Given the description of an element on the screen output the (x, y) to click on. 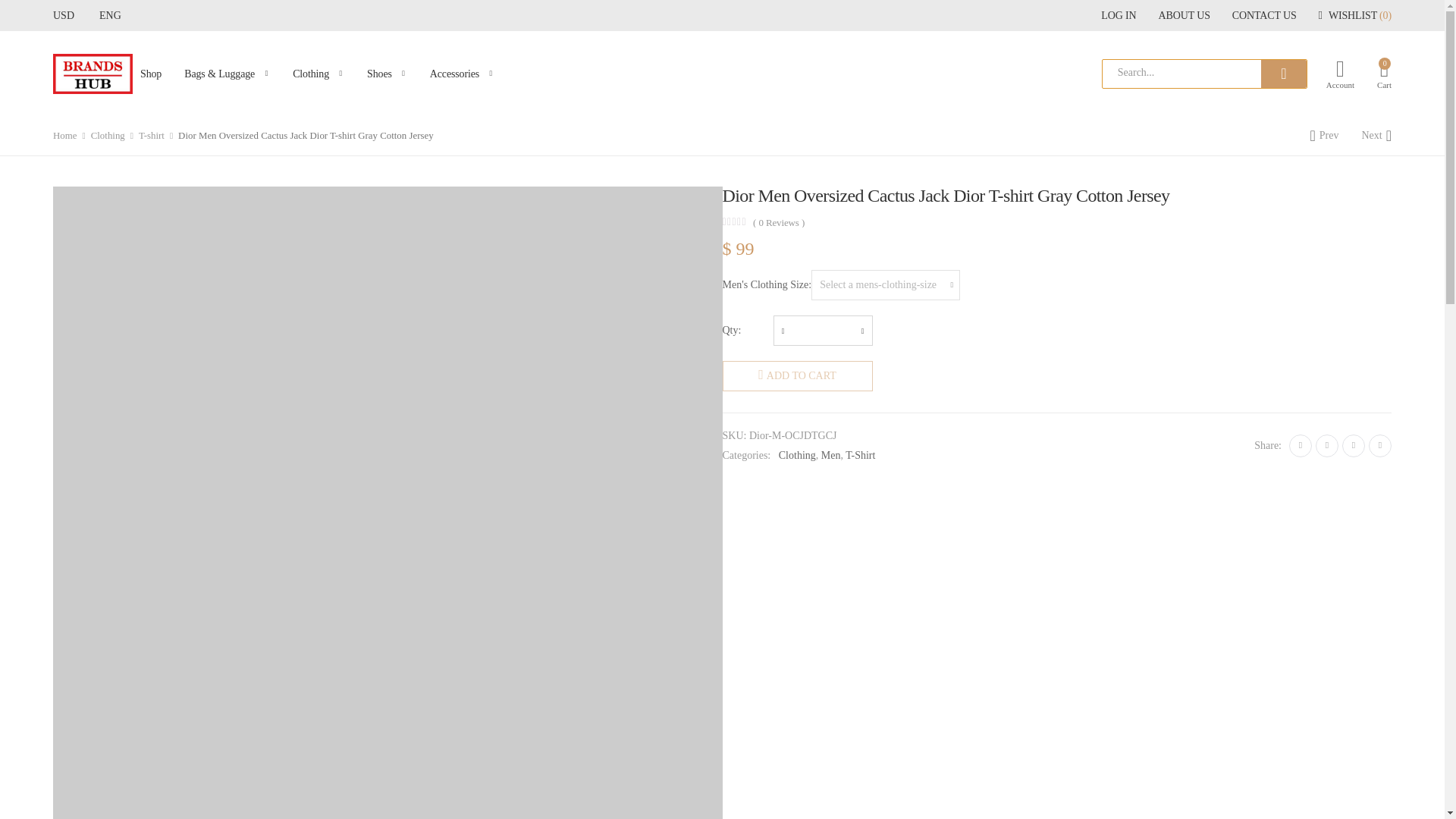
Twitter (1327, 445)
Shop (150, 73)
Facebook (1299, 445)
Shoes (386, 73)
ABOUT US (1183, 15)
ENG (117, 15)
Pinterest (1353, 445)
USD (69, 15)
Clothing (318, 73)
Accessories (462, 73)
CONTACT US (1264, 15)
LOG IN (1117, 15)
